Given the description of an element on the screen output the (x, y) to click on. 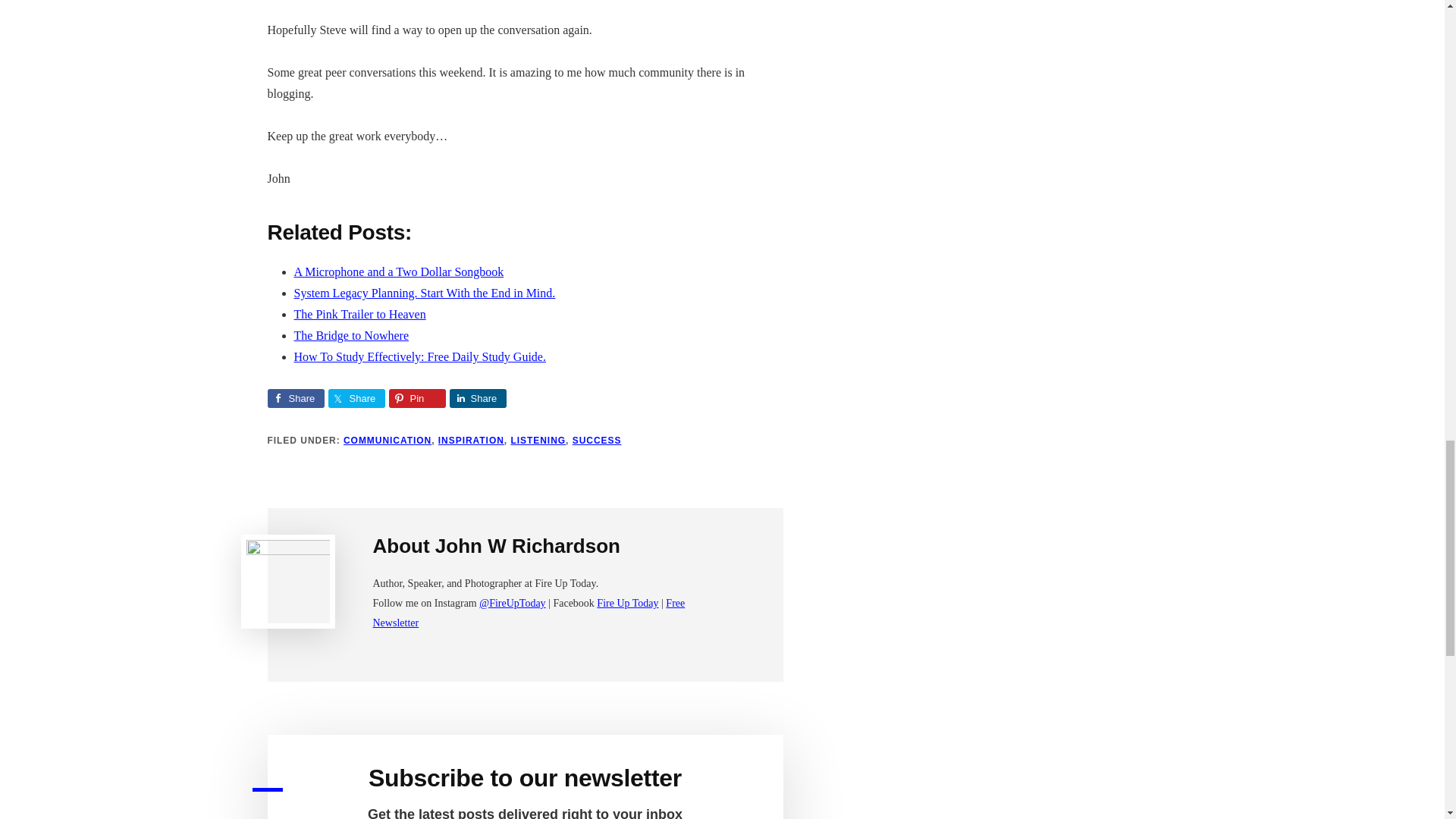
Share (294, 398)
Pin (416, 398)
SUCCESS (596, 439)
The Bridge to Nowhere (351, 335)
How To Study Effectively: Free Daily Study Guide. (420, 356)
LISTENING (538, 439)
Fire Up Today (627, 603)
Share (476, 398)
A Microphone and a Two Dollar Songbook (398, 271)
Free Newsletter (528, 612)
The Pink Trailer to Heaven (360, 314)
COMMUNICATION (386, 439)
INSPIRATION (470, 439)
Share (355, 398)
System Legacy Planning. Start With the End in Mind. (425, 292)
